Given the description of an element on the screen output the (x, y) to click on. 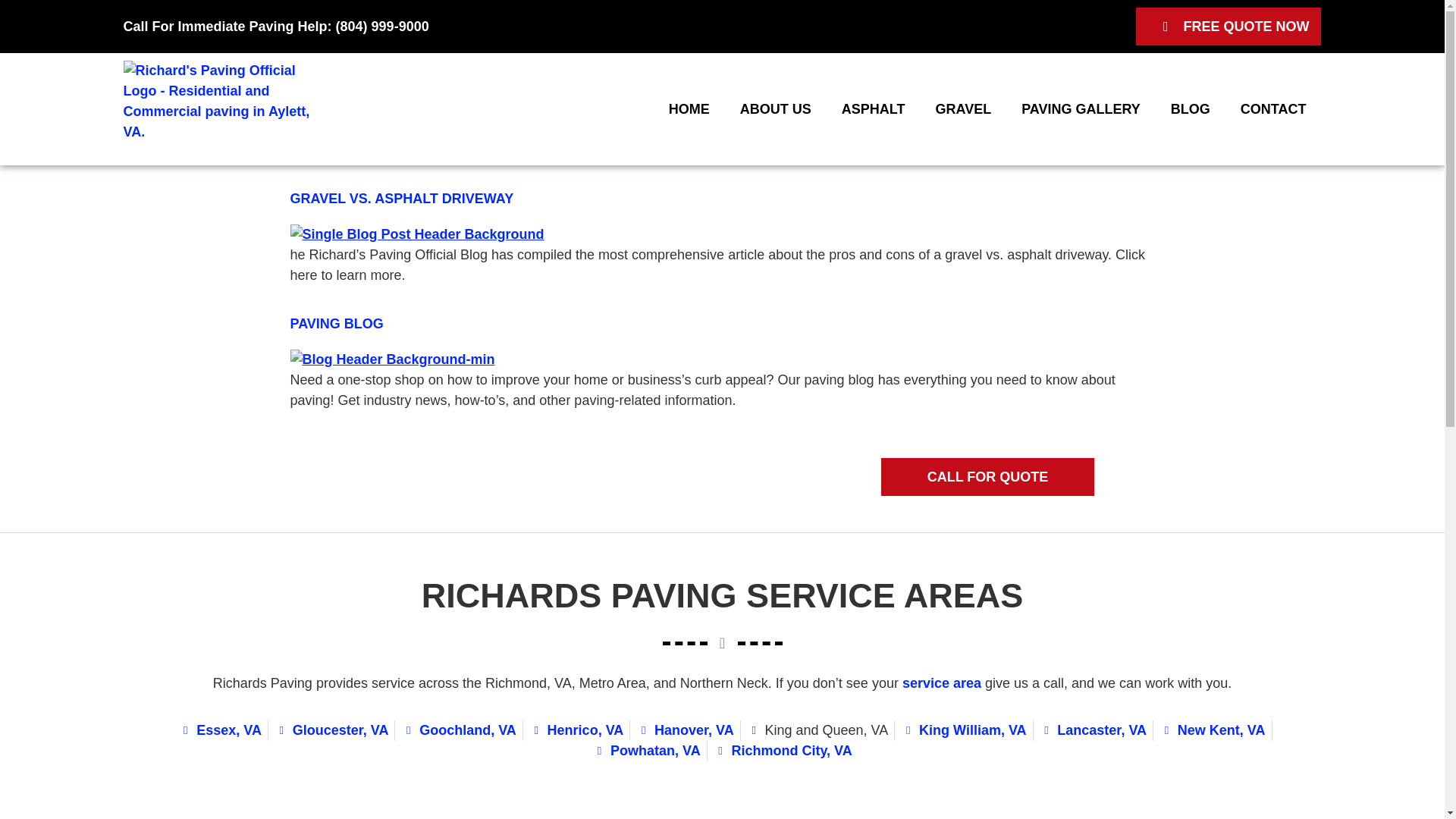
FREE QUOTE NOW (1228, 26)
ABOUT US (776, 108)
HOME (689, 108)
PAVING BLOG (335, 323)
PAVING GALLERY (1081, 108)
GRAVEL VS. ASPHALT DRIVEWAY (401, 198)
BLOG (1190, 108)
ASPHALT (873, 108)
GRAVEL (963, 108)
CONTACT (1273, 108)
